Given the description of an element on the screen output the (x, y) to click on. 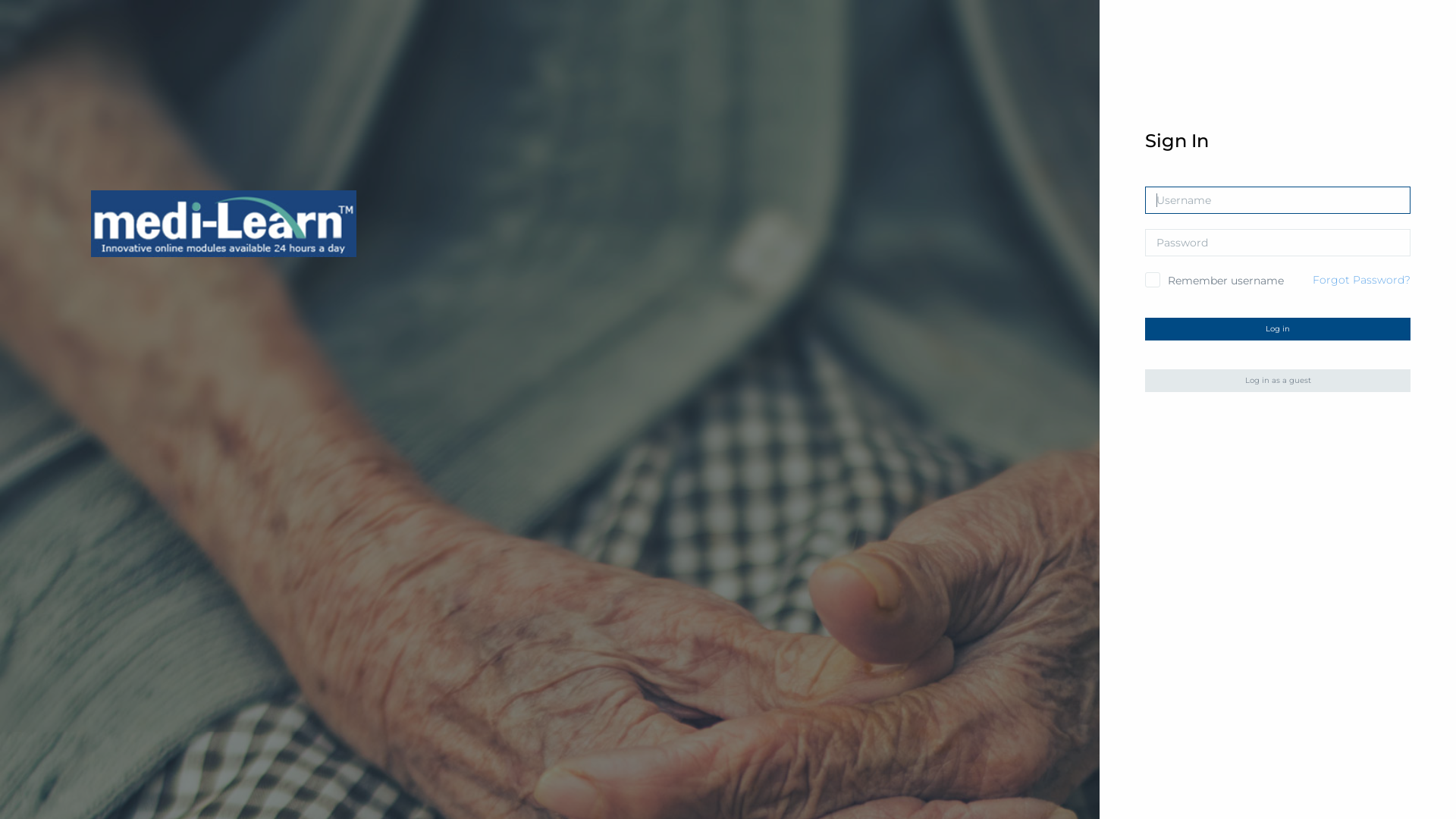
Log in as a guest Element type: text (1277, 380)
Forgot Password? Element type: text (1361, 279)
Log in Element type: text (1277, 328)
Skip to main content Element type: text (0, 0)
Meditrax Element type: hover (223, 223)
